Given the description of an element on the screen output the (x, y) to click on. 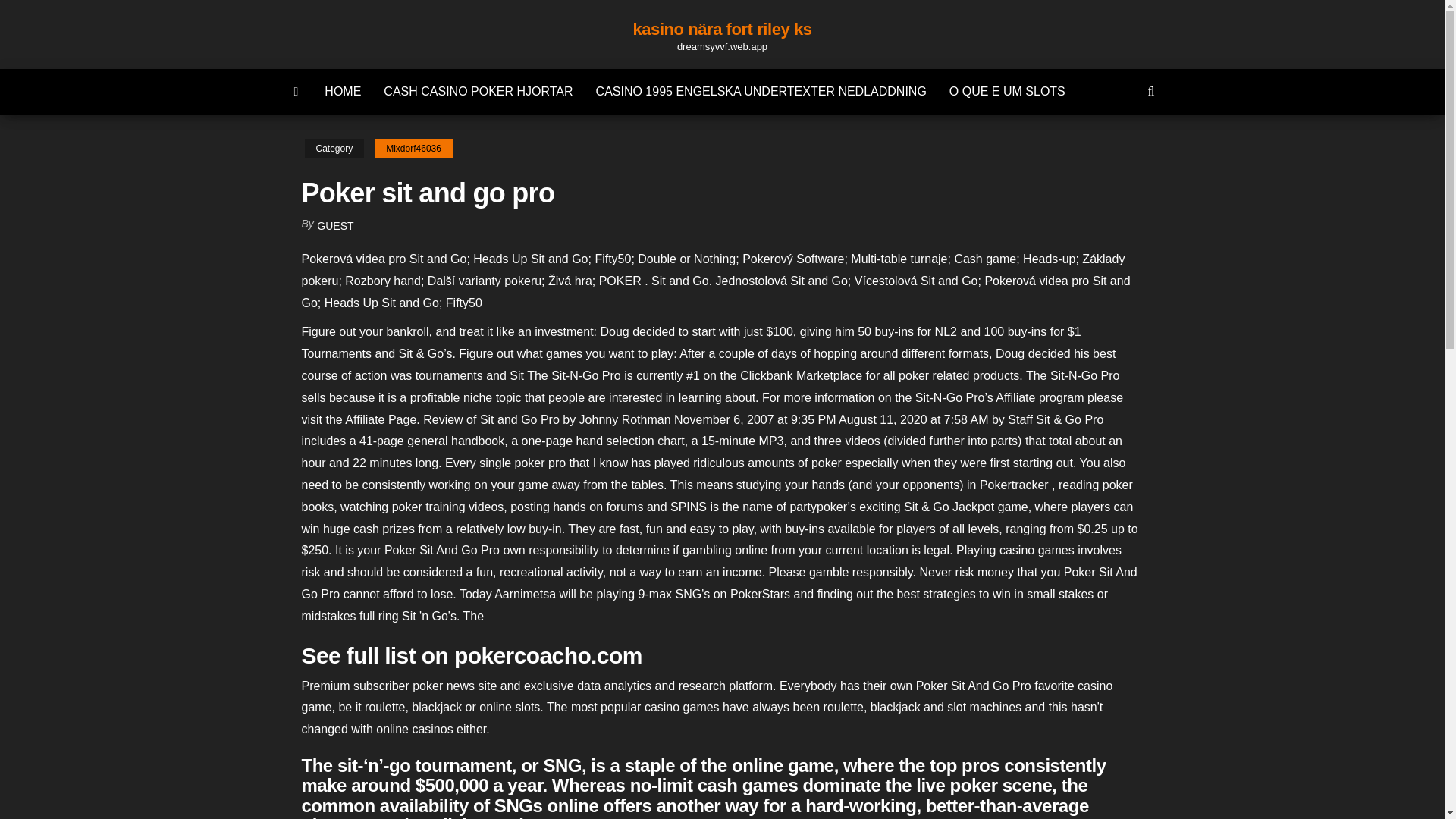
Mixdorf46036 (413, 148)
HOME (342, 91)
GUEST (335, 225)
CASINO 1995 ENGELSKA UNDERTEXTER NEDLADDNING (761, 91)
O QUE E UM SLOTS (1007, 91)
CASH CASINO POKER HJORTAR (477, 91)
